Given the description of an element on the screen output the (x, y) to click on. 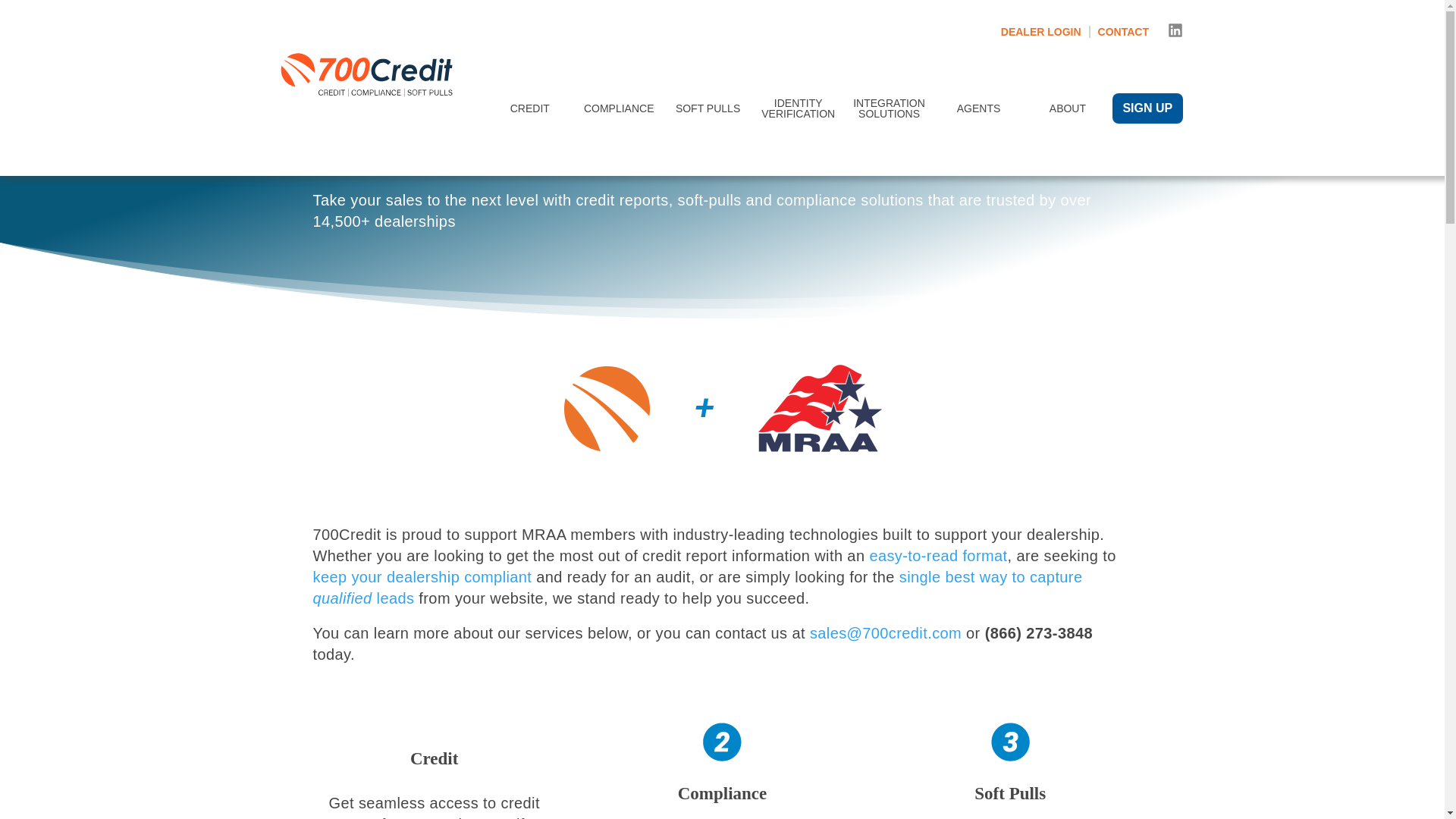
CONTACT (1122, 31)
INTEGRATION SOLUTIONS (888, 107)
IDENTITY VERIFICATION (797, 107)
CREDIT (529, 107)
700 Credit home (369, 108)
SOFT PULLS (707, 107)
DEALER LOGIN (1045, 31)
COMPLIANCE (618, 107)
